Given the description of an element on the screen output the (x, y) to click on. 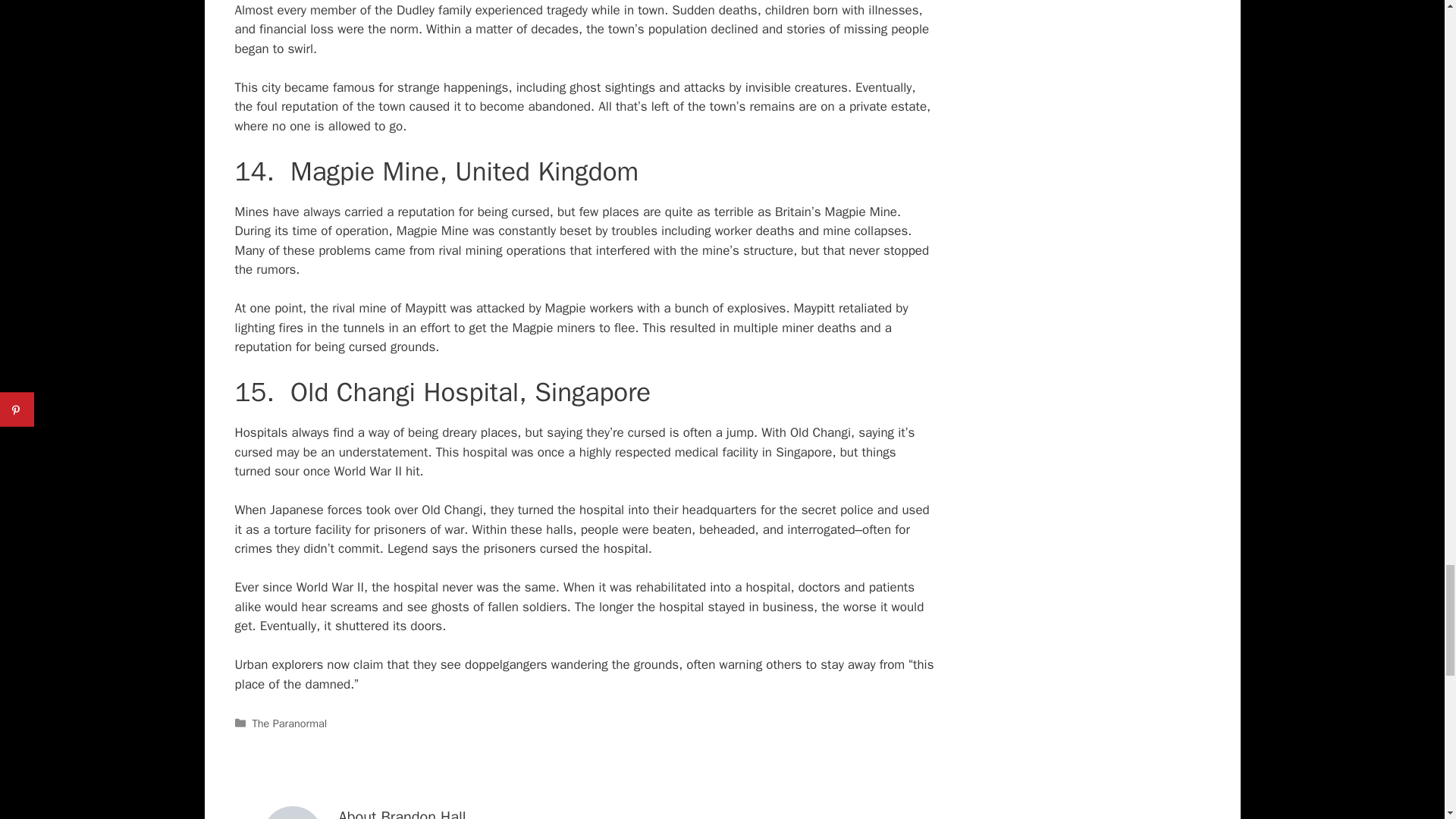
The Paranormal (289, 723)
Read more (401, 812)
About Brandon Hall (401, 812)
